Given the description of an element on the screen output the (x, y) to click on. 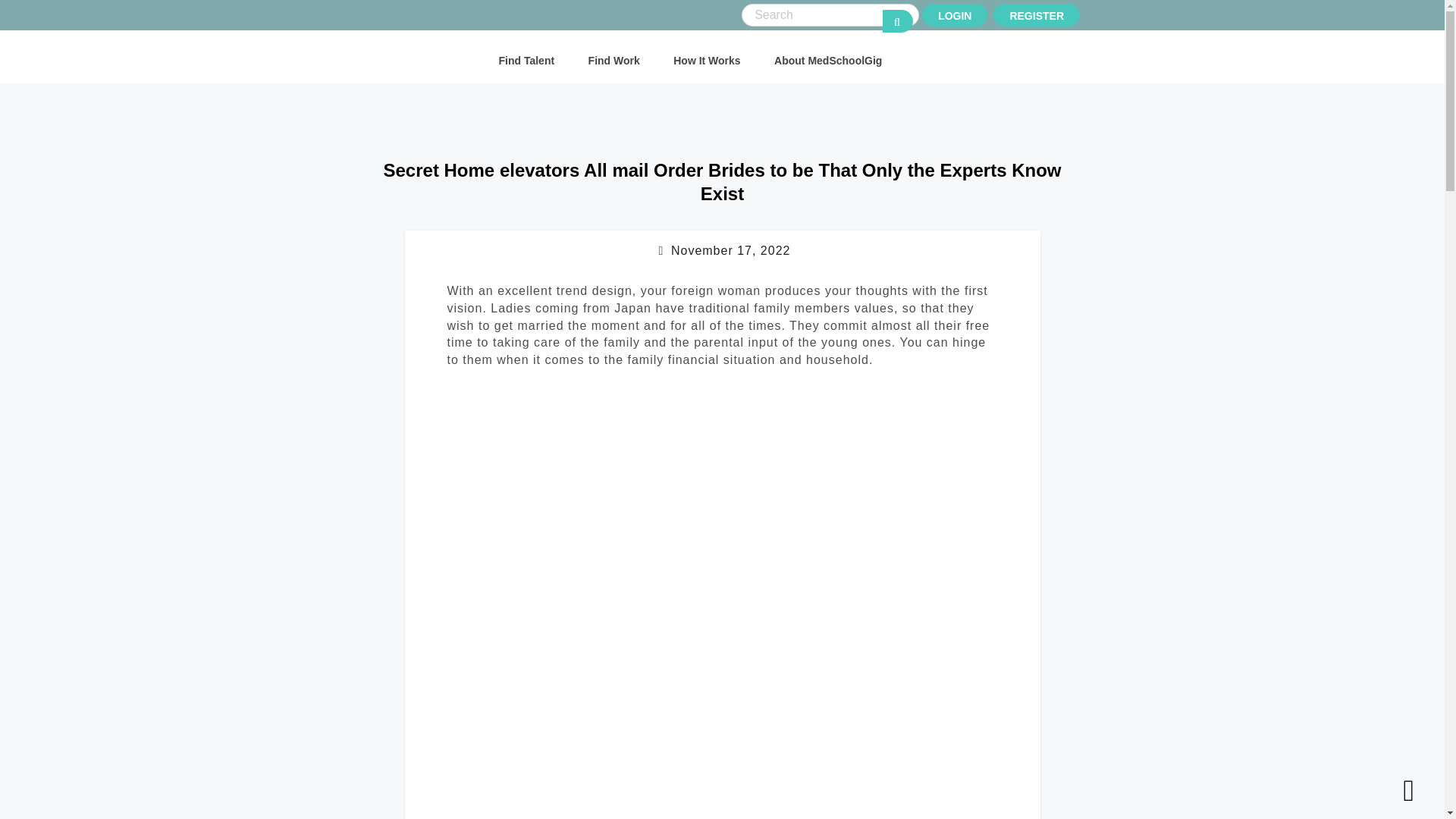
How It Works (705, 60)
About MedSchoolGig (828, 60)
REGISTER (1036, 15)
Find Talent (526, 60)
Find Work (614, 60)
LOGIN (954, 15)
